Given the description of an element on the screen output the (x, y) to click on. 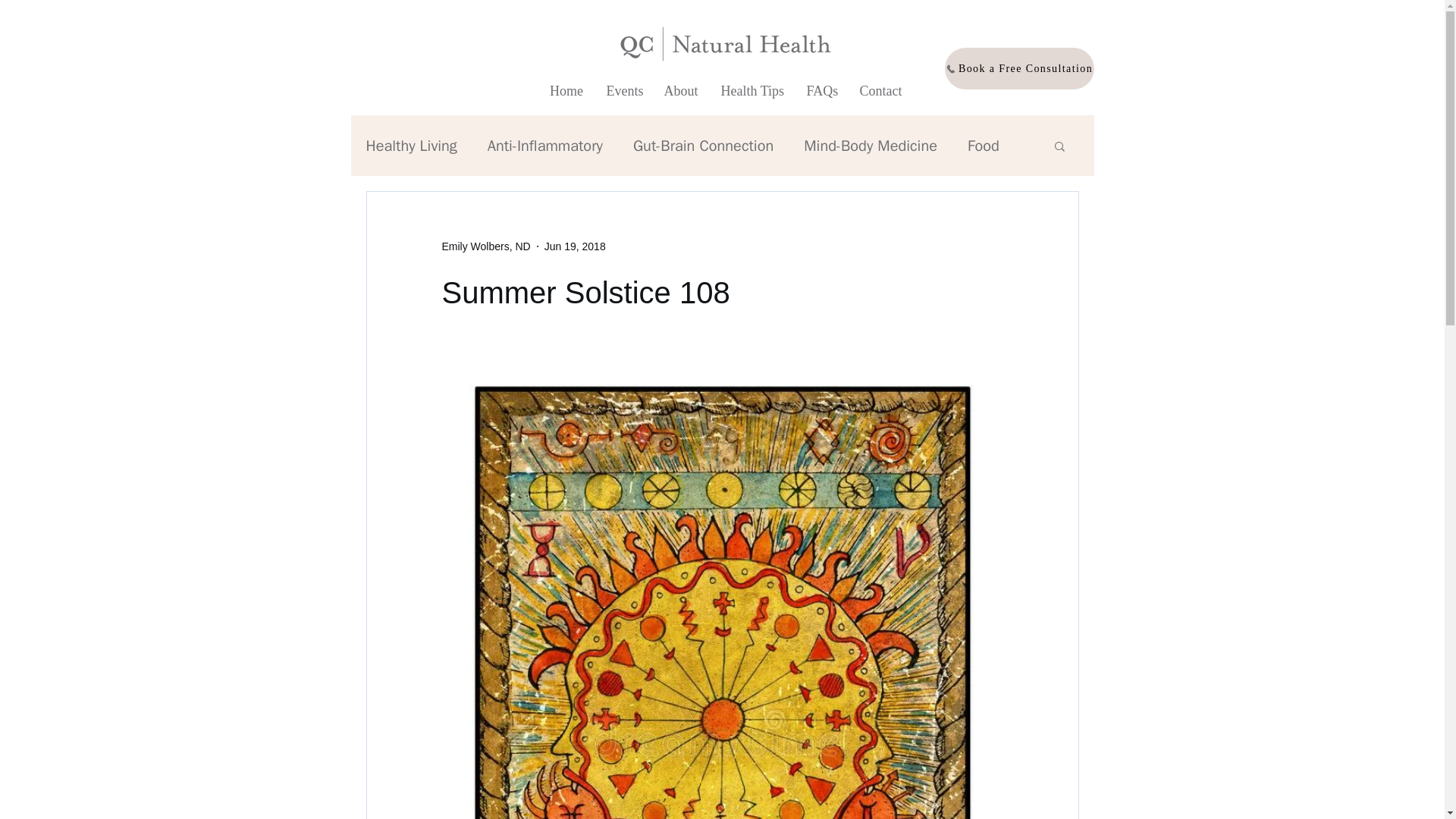
Events (623, 90)
FAQs (820, 90)
Gut-Brain Connection (703, 145)
Emily Wolbers, ND (485, 245)
Mind-Body Medicine (870, 145)
Anti-Inflammatory (544, 145)
Jun 19, 2018 (574, 245)
Food (983, 145)
Healthy Living (411, 145)
Home (566, 90)
